Given the description of an element on the screen output the (x, y) to click on. 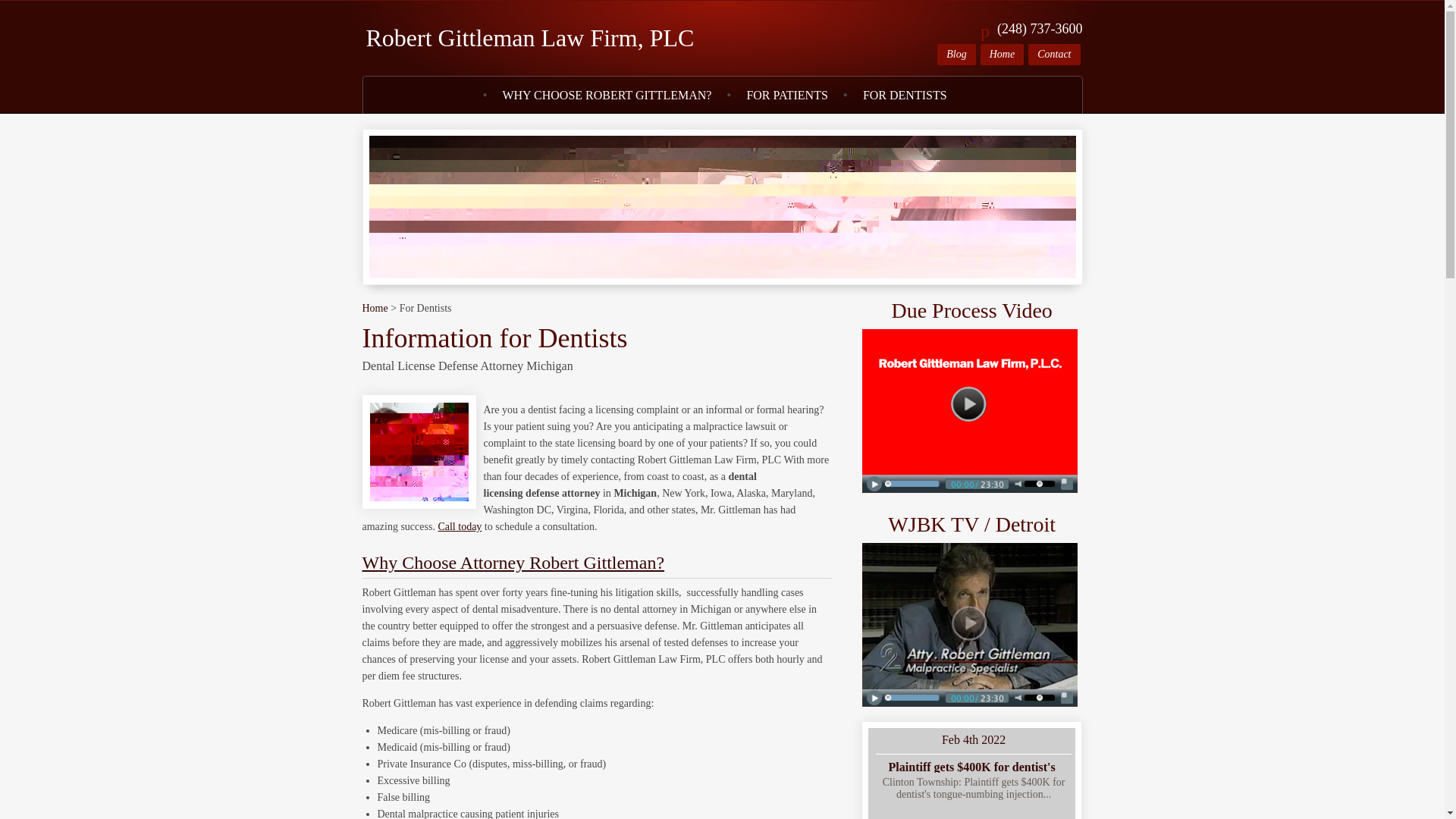
Why Choose Attorney Robert Gittleman? (513, 562)
Home (375, 307)
FOR PATIENTS (786, 95)
Call today (459, 526)
Contact (1053, 54)
Robert Gittleman Law Firm, PLC (529, 38)
Go to homepage (529, 38)
Blog (956, 54)
WHY CHOOSE ROBERT GITTLEMAN? (606, 95)
FOR DENTISTS (905, 95)
Home (1001, 54)
